Given the description of an element on the screen output the (x, y) to click on. 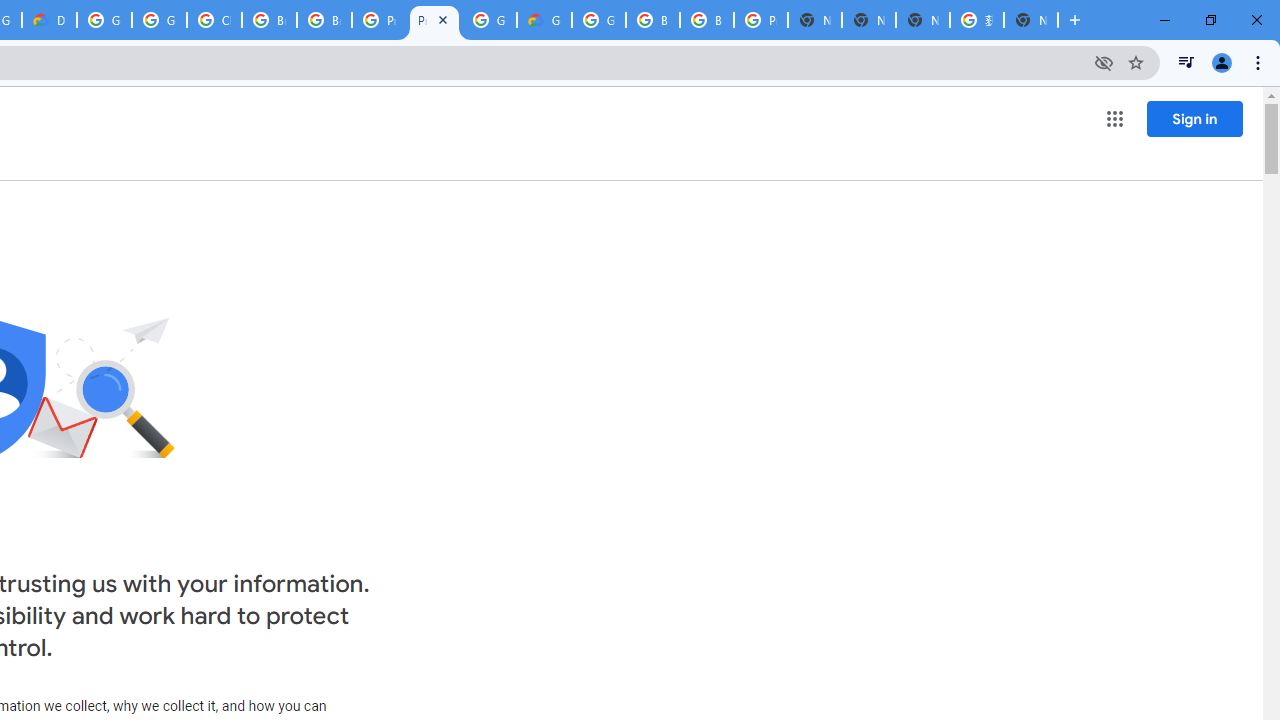
Browse Chrome as a guest - Computer - Google Chrome Help (268, 20)
New Tab (815, 20)
Browse Chrome as a guest - Computer - Google Chrome Help (324, 20)
Google Cloud Platform (103, 20)
Browse Chrome as a guest - Computer - Google Chrome Help (652, 20)
Google Cloud Estimate Summary (544, 20)
New Tab (1030, 20)
